Given the description of an element on the screen output the (x, y) to click on. 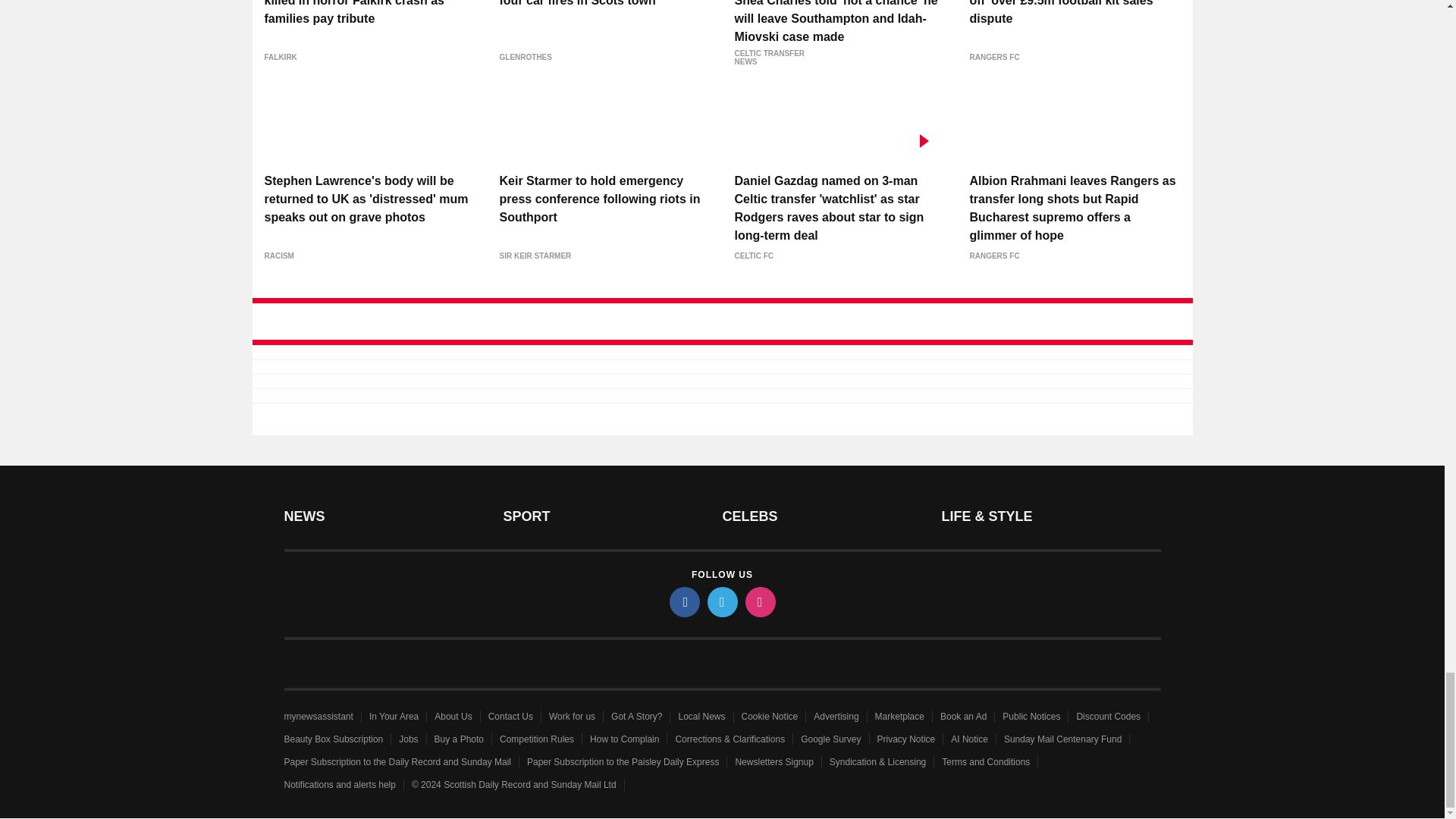
instagram (759, 602)
twitter (721, 602)
facebook (683, 602)
